Given the description of an element on the screen output the (x, y) to click on. 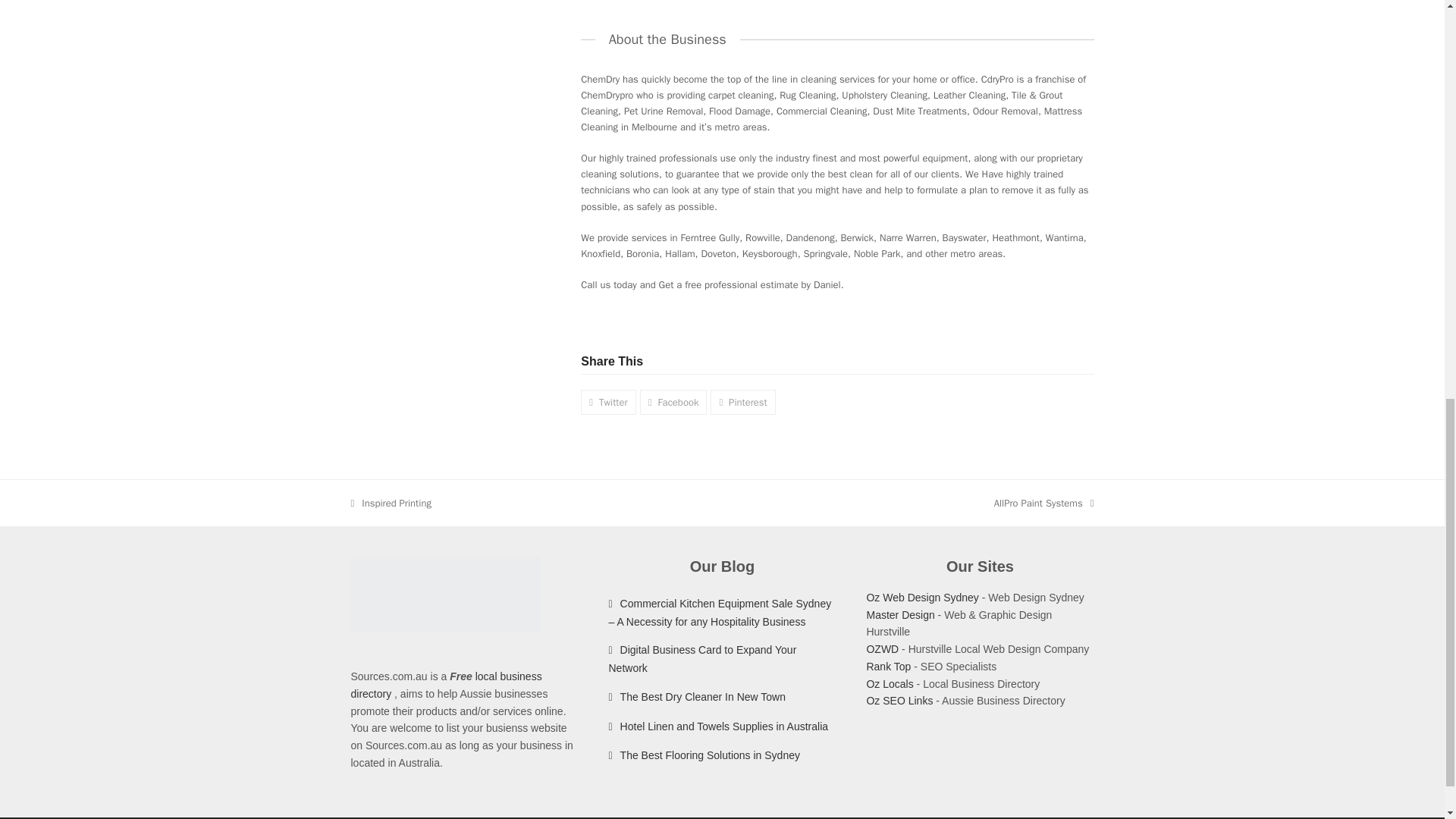
web design hurstville (390, 503)
Oz Web Design Sydney (900, 614)
Pinterest (922, 597)
Hotel Linen and Towels Supplies in Australia (1044, 503)
Oz Locals (742, 401)
The Best Flooring Solutions in Sydney (718, 726)
Rank Top (889, 684)
The Best Dry Cleaner In New Town (703, 755)
Facebook (888, 666)
Twitter (697, 696)
web designer hurstville (673, 401)
australian business directory (607, 401)
australian business directory (882, 648)
